Given the description of an element on the screen output the (x, y) to click on. 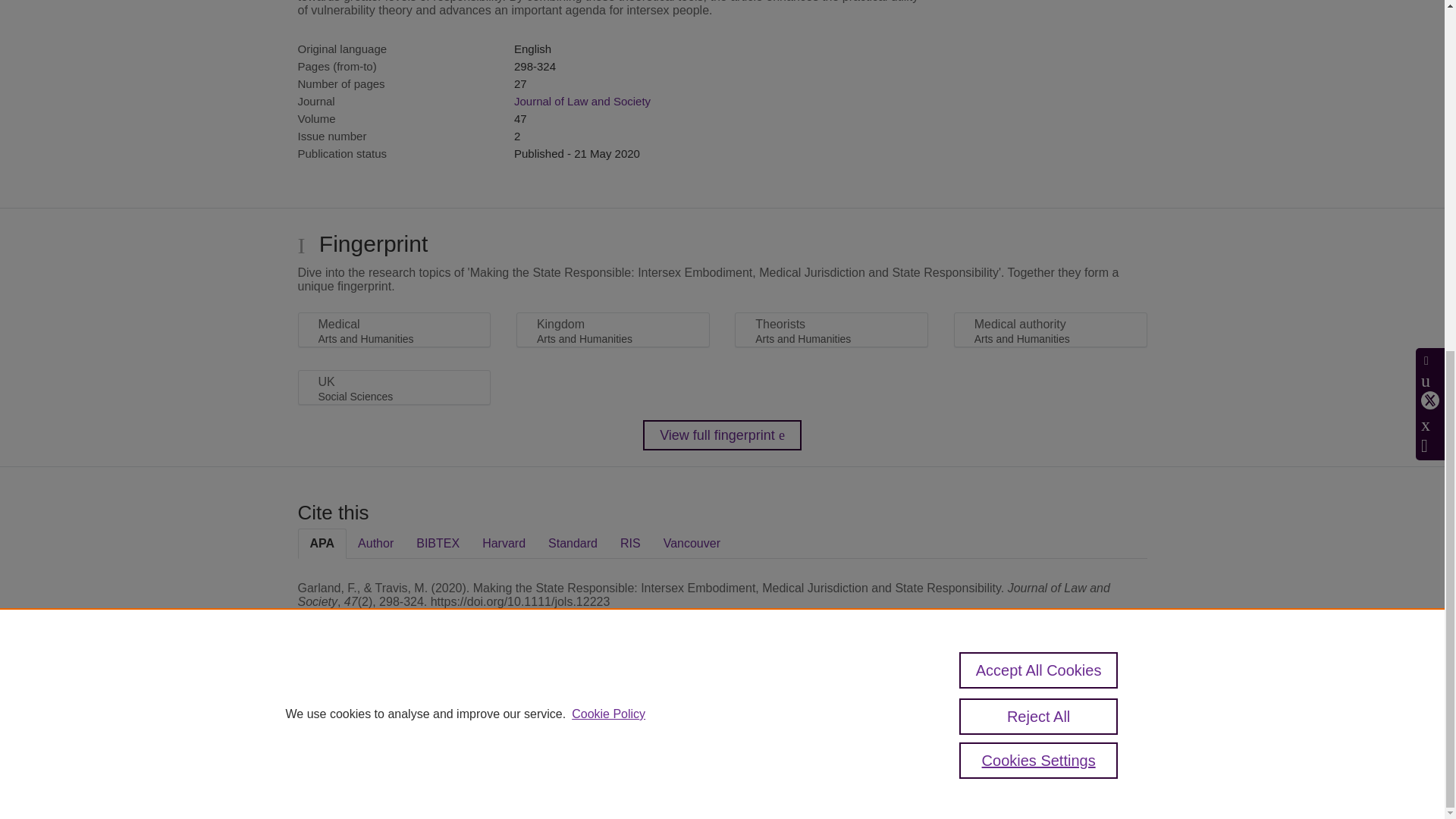
Journal of Law and Society (581, 101)
View full fingerprint (722, 435)
Scopus (394, 707)
Pure (362, 707)
